Given the description of an element on the screen output the (x, y) to click on. 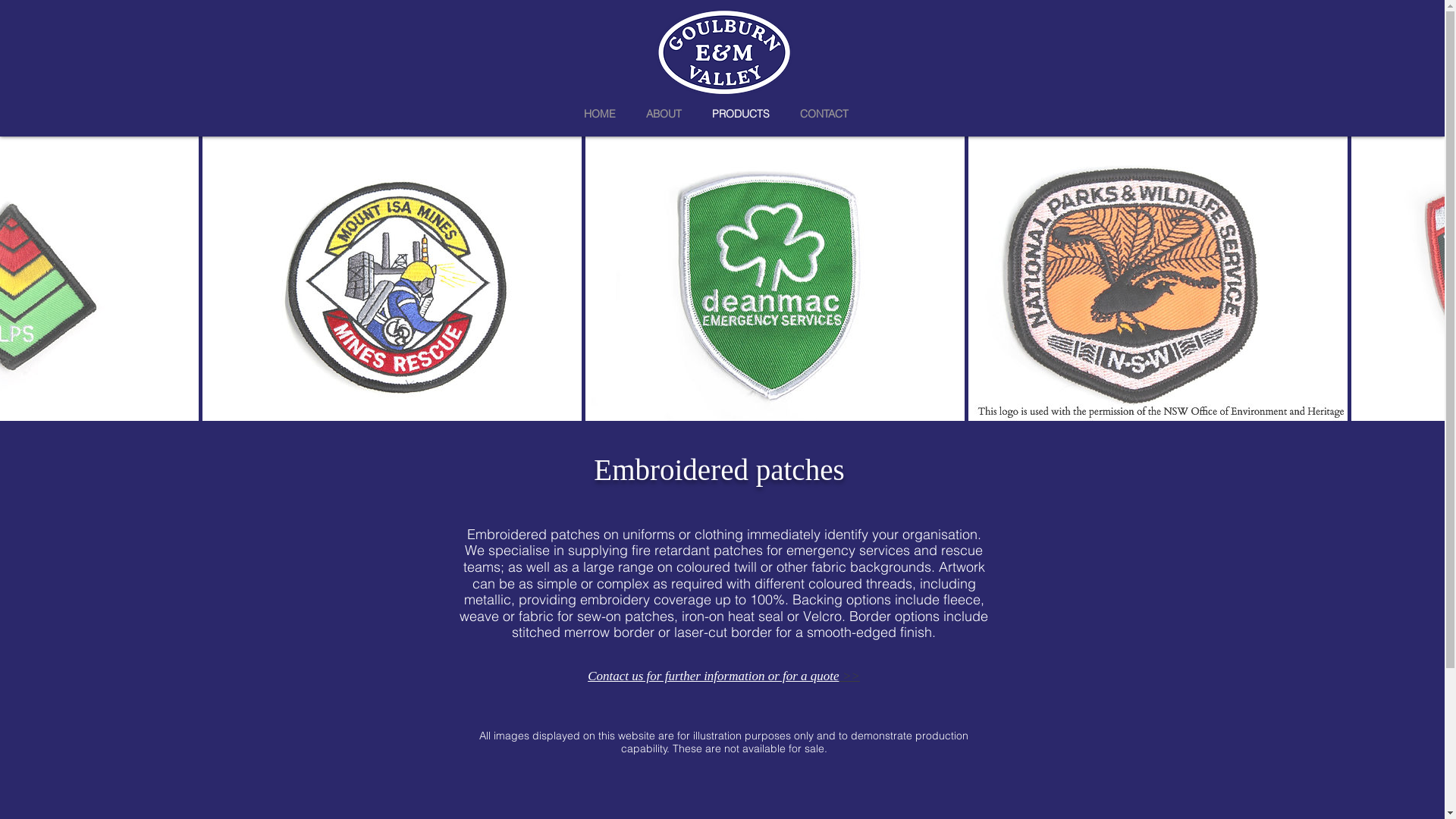
HOME Element type: text (599, 112)
PRODUCTS Element type: text (740, 112)
Contact us for further information or for a quote >> Element type: text (723, 675)
CONTACT Element type: text (823, 112)
ABOUT Element type: text (663, 112)
